Given the description of an element on the screen output the (x, y) to click on. 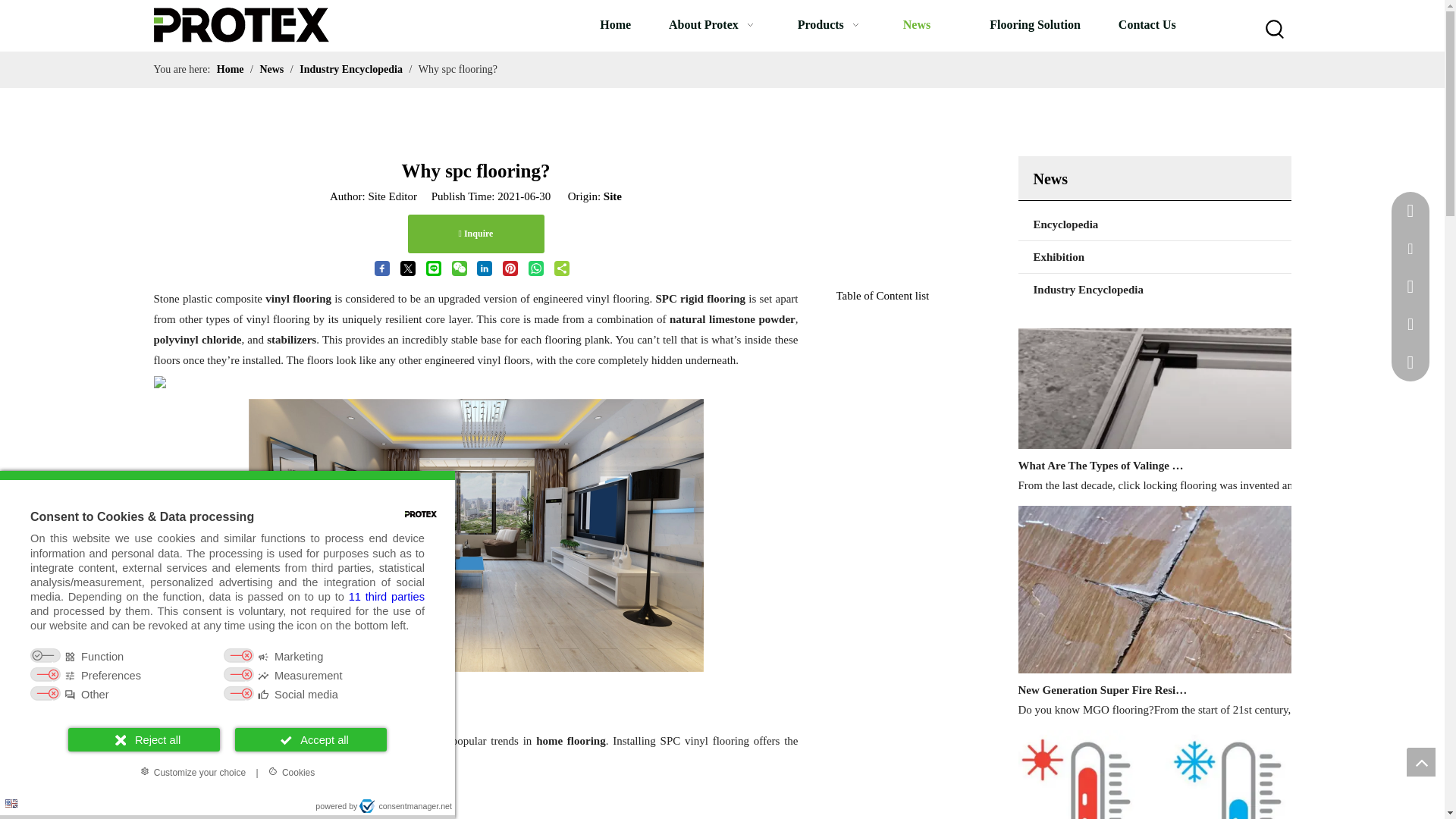
Accept all (310, 739)
Cookies (290, 771)
Home (614, 24)
Language: en (11, 803)
Purpose (227, 676)
11 third parties (387, 596)
Customize your choice (192, 771)
Reject all (143, 739)
Products   (830, 24)
Language: en (11, 803)
consentmanager.net (405, 806)
About Protex   (713, 24)
News   (927, 24)
